Given the description of an element on the screen output the (x, y) to click on. 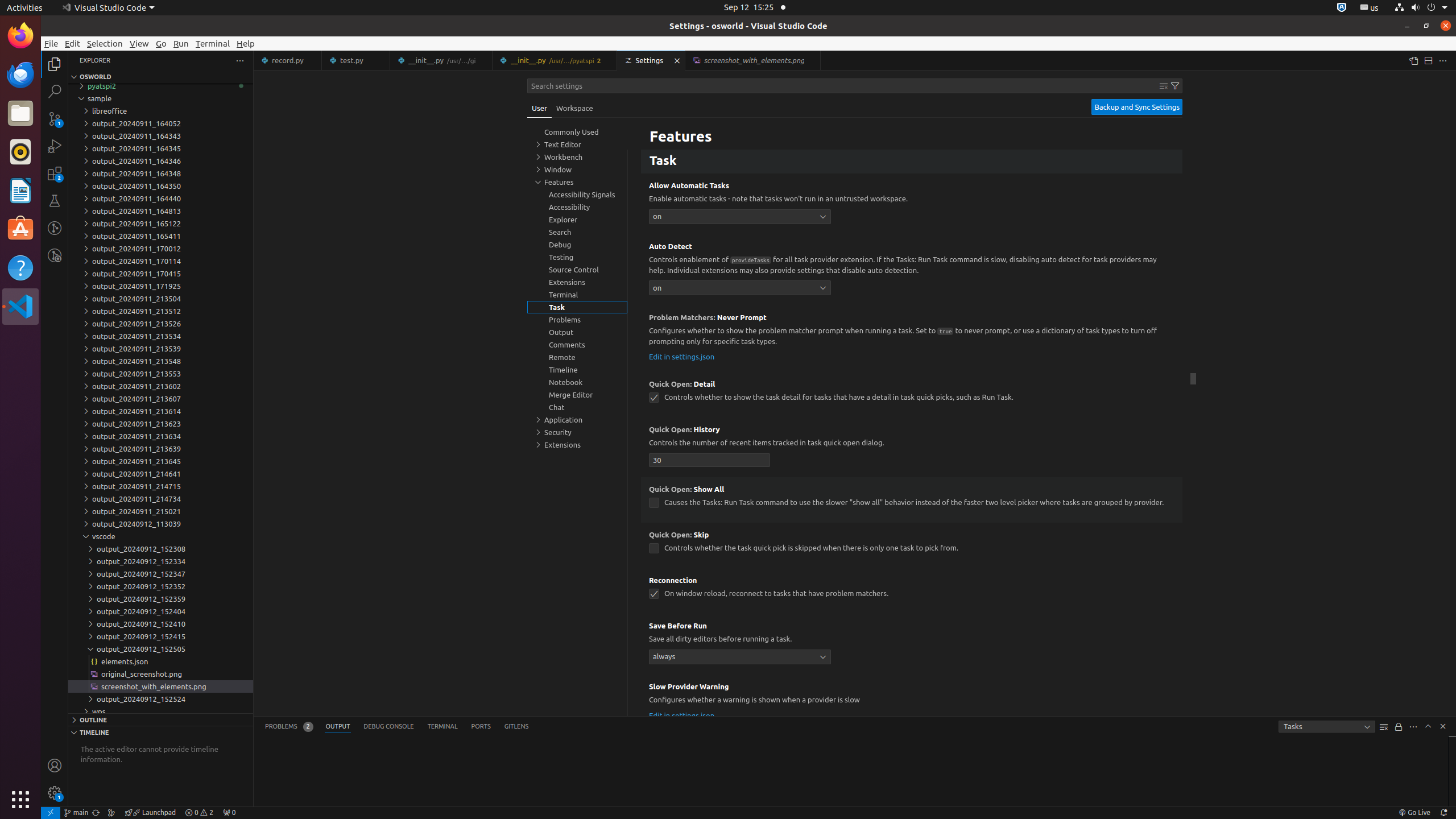
Workspace Element type: check-box (574, 107)
Explorer, group Element type: tree-item (577, 219)
More Actions... (Shift+F9) Element type: push-button (634, 685)
output_20240912_113039 Element type: tree-item (160, 523)
